Given the description of an element on the screen output the (x, y) to click on. 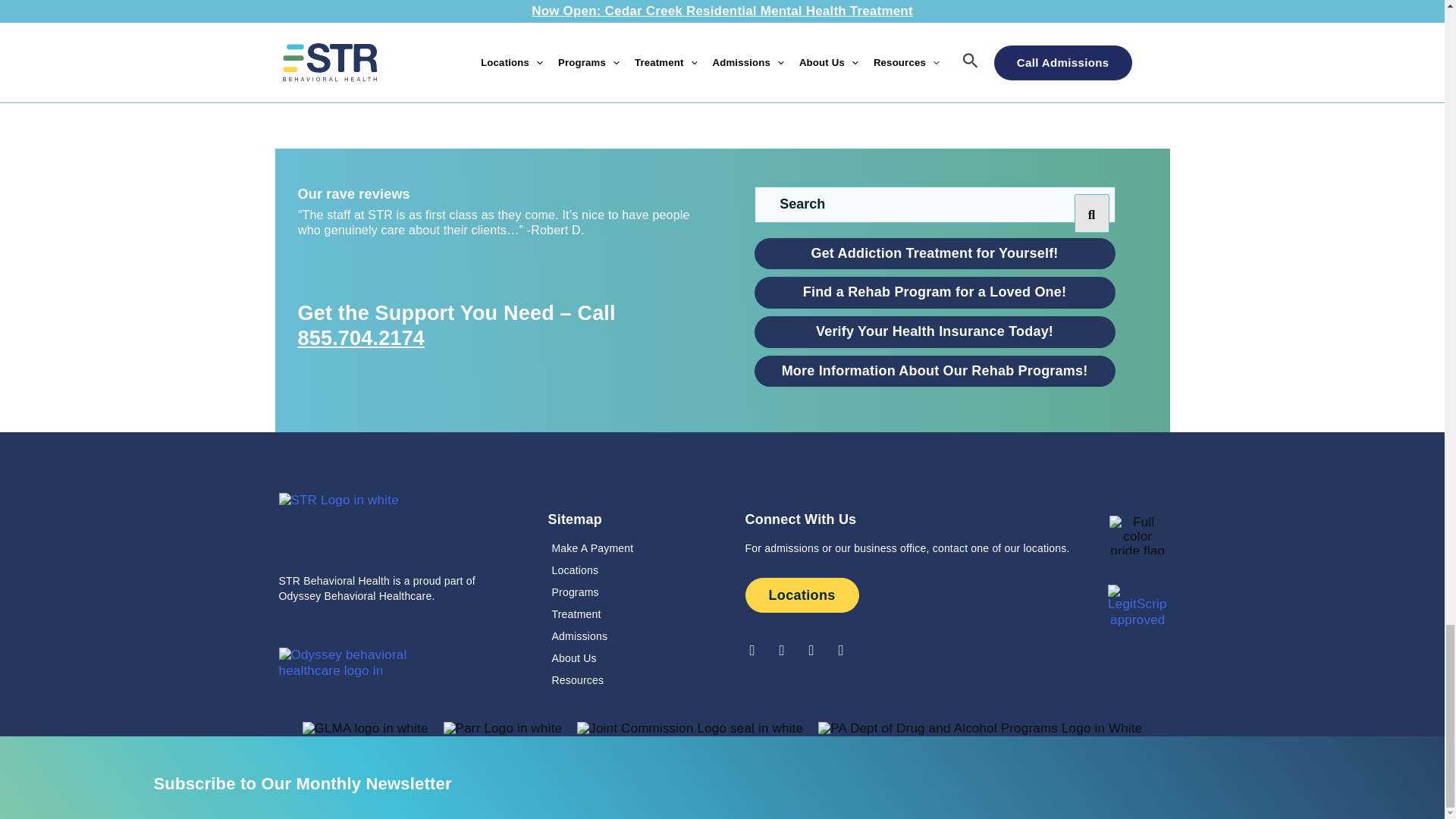
PA-Department-Drug-Alcohol-Programs-Logo-White (979, 728)
Verify LegitScript Approval (1137, 605)
parr-logo (503, 728)
glma-white (365, 728)
